Given the description of an element on the screen output the (x, y) to click on. 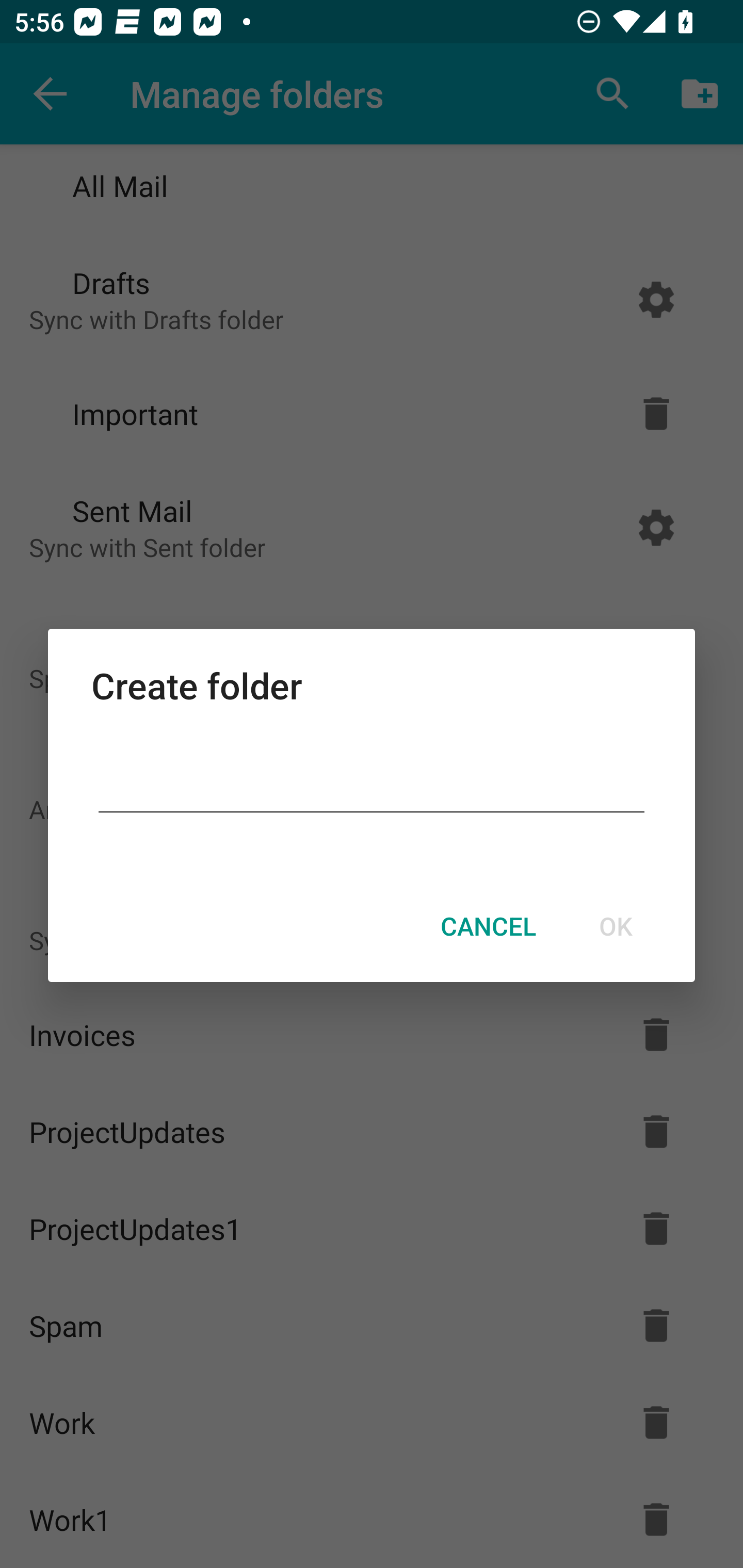
CANCEL (488, 926)
OK (615, 926)
